Given the description of an element on the screen output the (x, y) to click on. 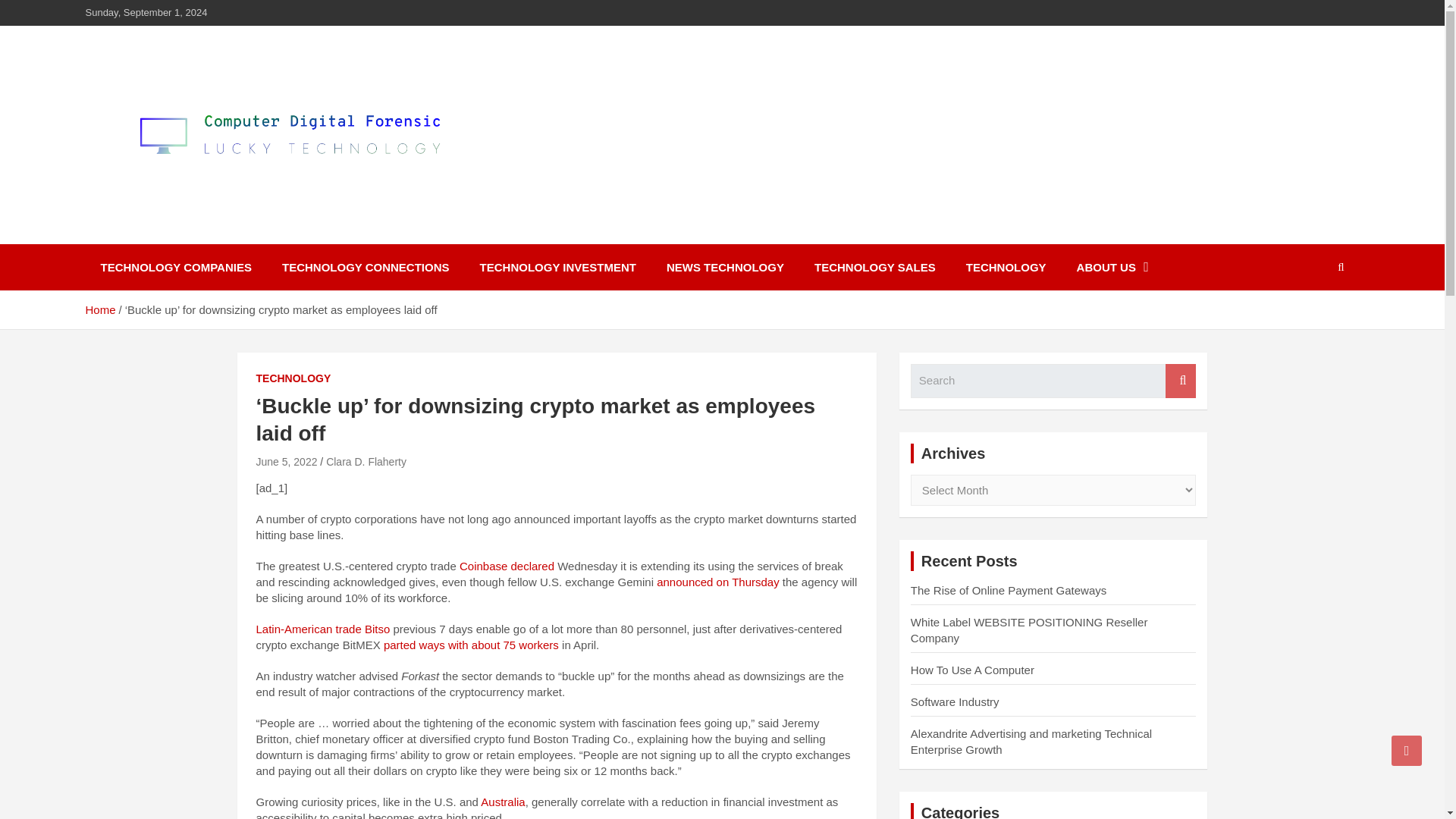
TECHNOLOGY SALES (874, 267)
Coinbase declared (505, 565)
TECHNOLOGY (1005, 267)
Computer Digital Forensic (274, 233)
June 5, 2022 (286, 461)
announced on Thursday (715, 581)
TECHNOLOGY COMPANIES (175, 267)
Go to Top (1406, 750)
Clara D. Flaherty (366, 461)
Home (99, 309)
